Given the description of an element on the screen output the (x, y) to click on. 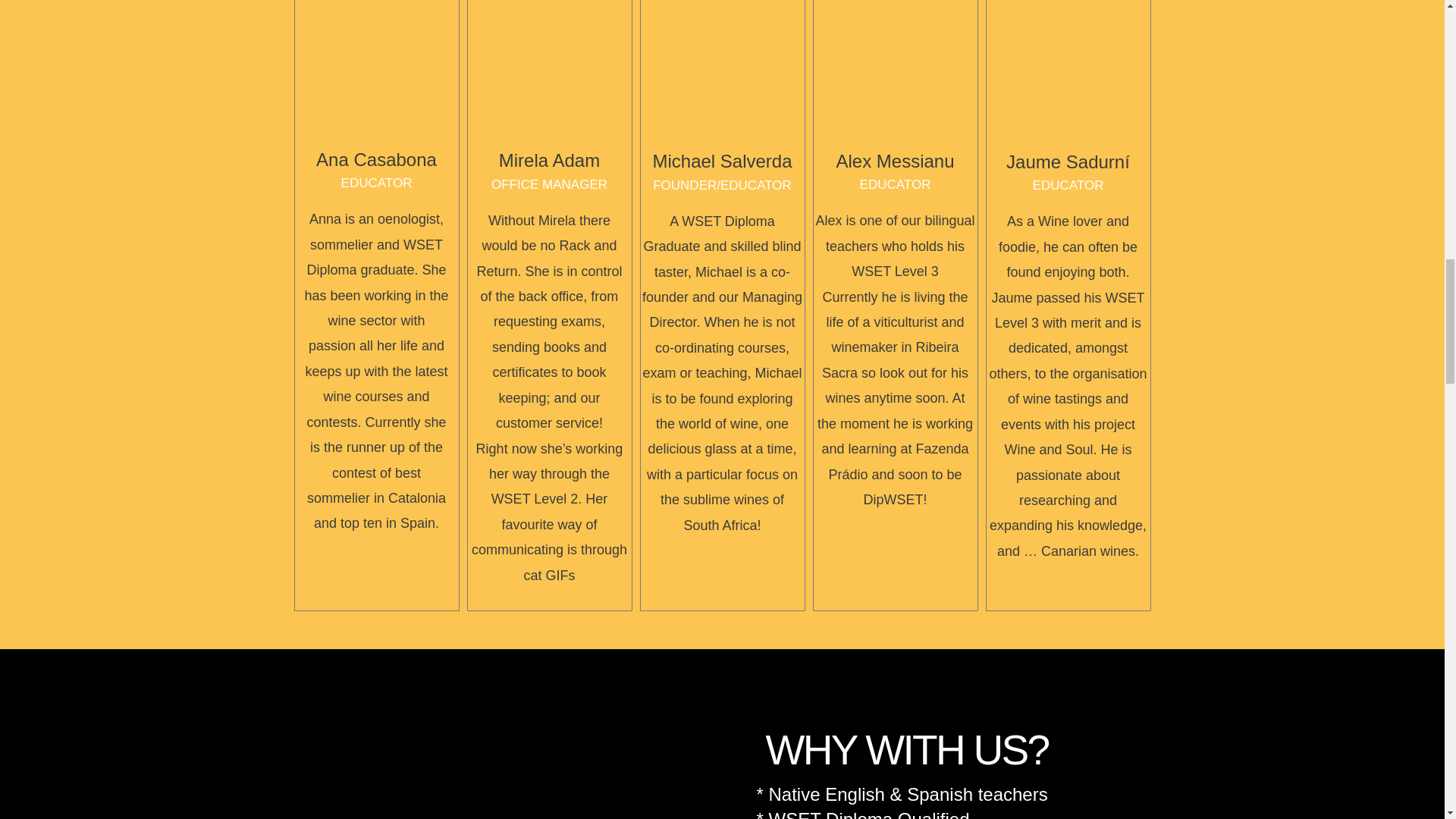
HOME - Rack and Return (376, 61)
HOME - Rack and Return (548, 65)
HOME - Rack and Return (894, 65)
HOME - Rack and Return (506, 798)
HOME - Rack and Return (1068, 65)
HOME - Rack and Return (722, 65)
